Given the description of an element on the screen output the (x, y) to click on. 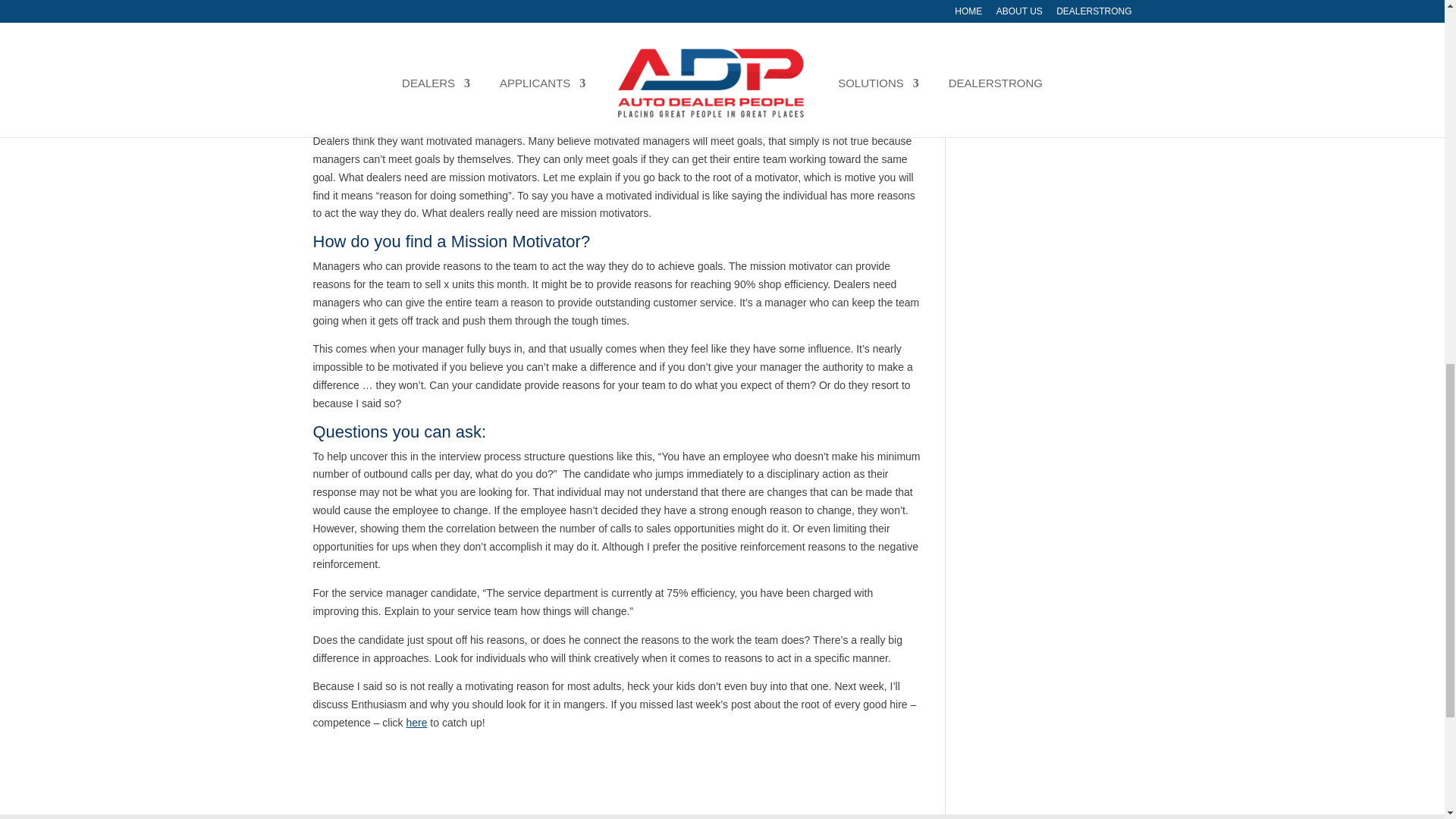
here (416, 722)
Finding Talent Using Cmetrics Part 4 (416, 722)
